Given the description of an element on the screen output the (x, y) to click on. 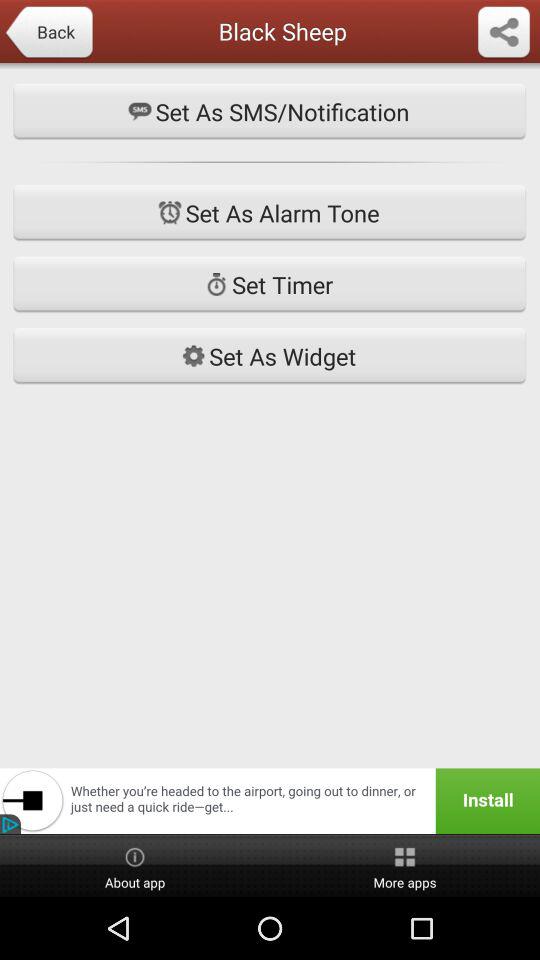
press app to the left of black sheep icon (48, 33)
